Given the description of an element on the screen output the (x, y) to click on. 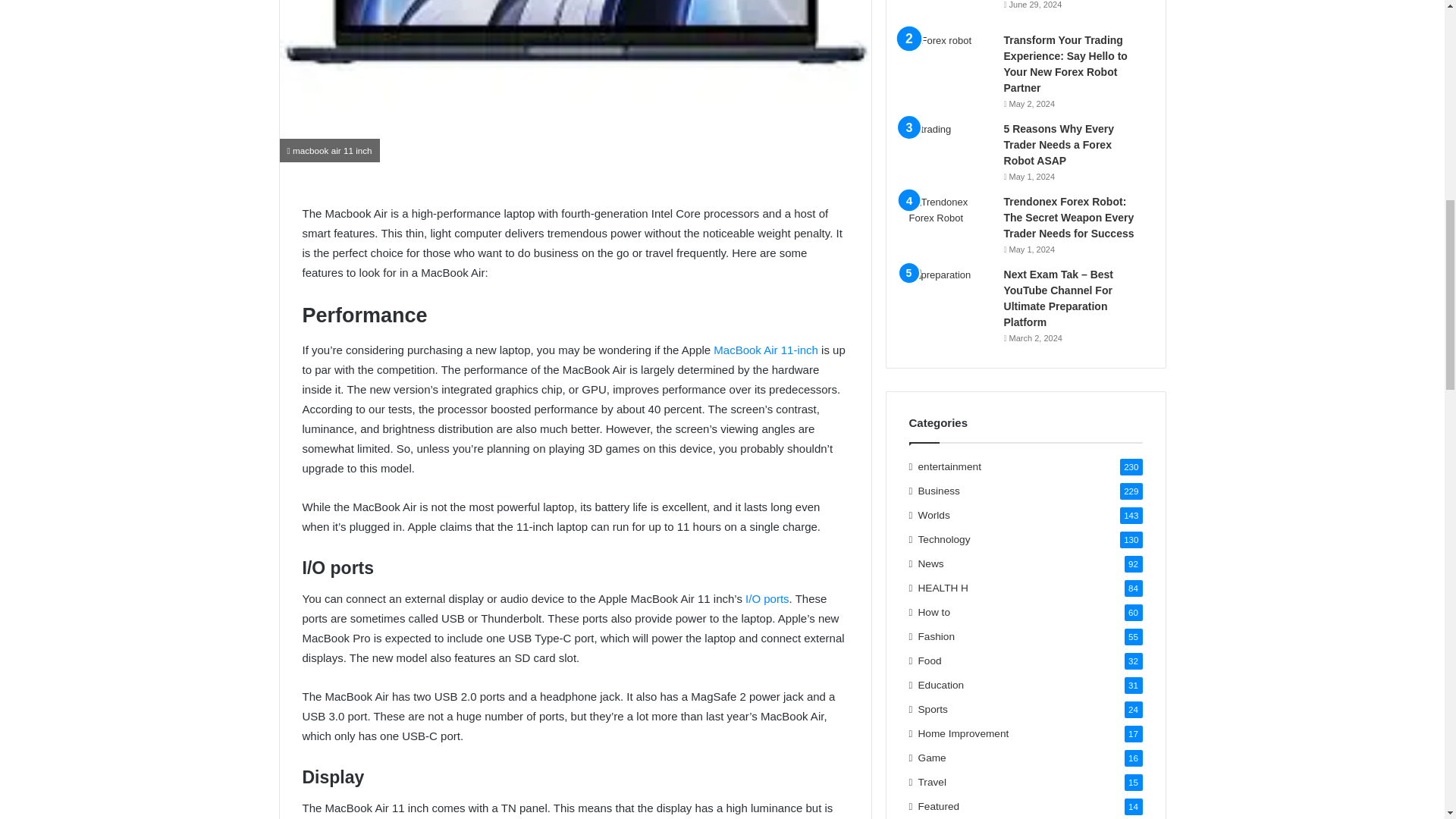
MacBook Air 11-inch (765, 349)
